Given the description of an element on the screen output the (x, y) to click on. 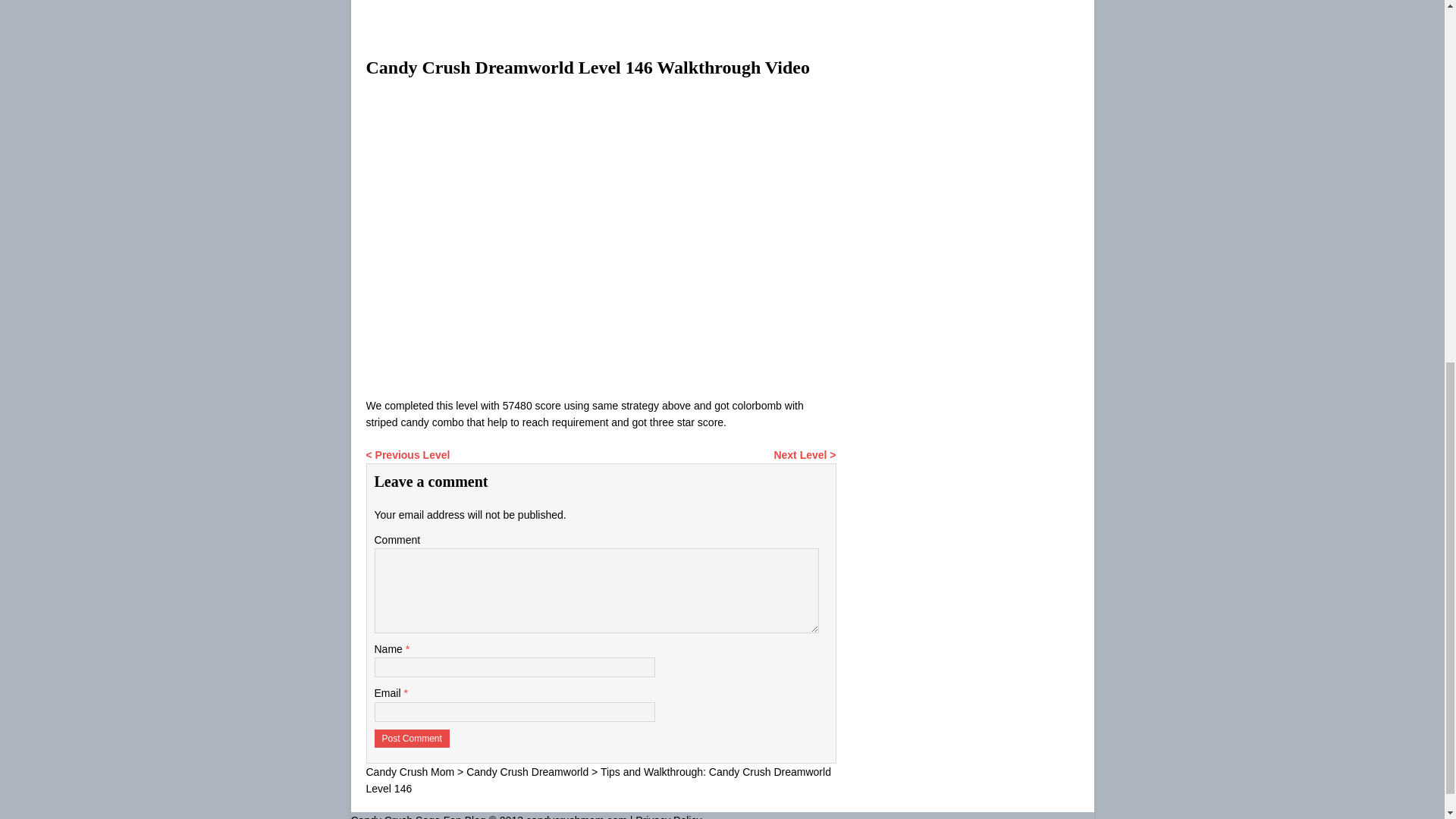
Post Comment (411, 738)
Post Comment (411, 738)
Candy Crush Dreamworld (526, 771)
Go to the Candy Crush Dreamworld category archives. (526, 771)
Go to Candy Crush Mom. (409, 771)
Candy Crush Mom (409, 771)
